Given the description of an element on the screen output the (x, y) to click on. 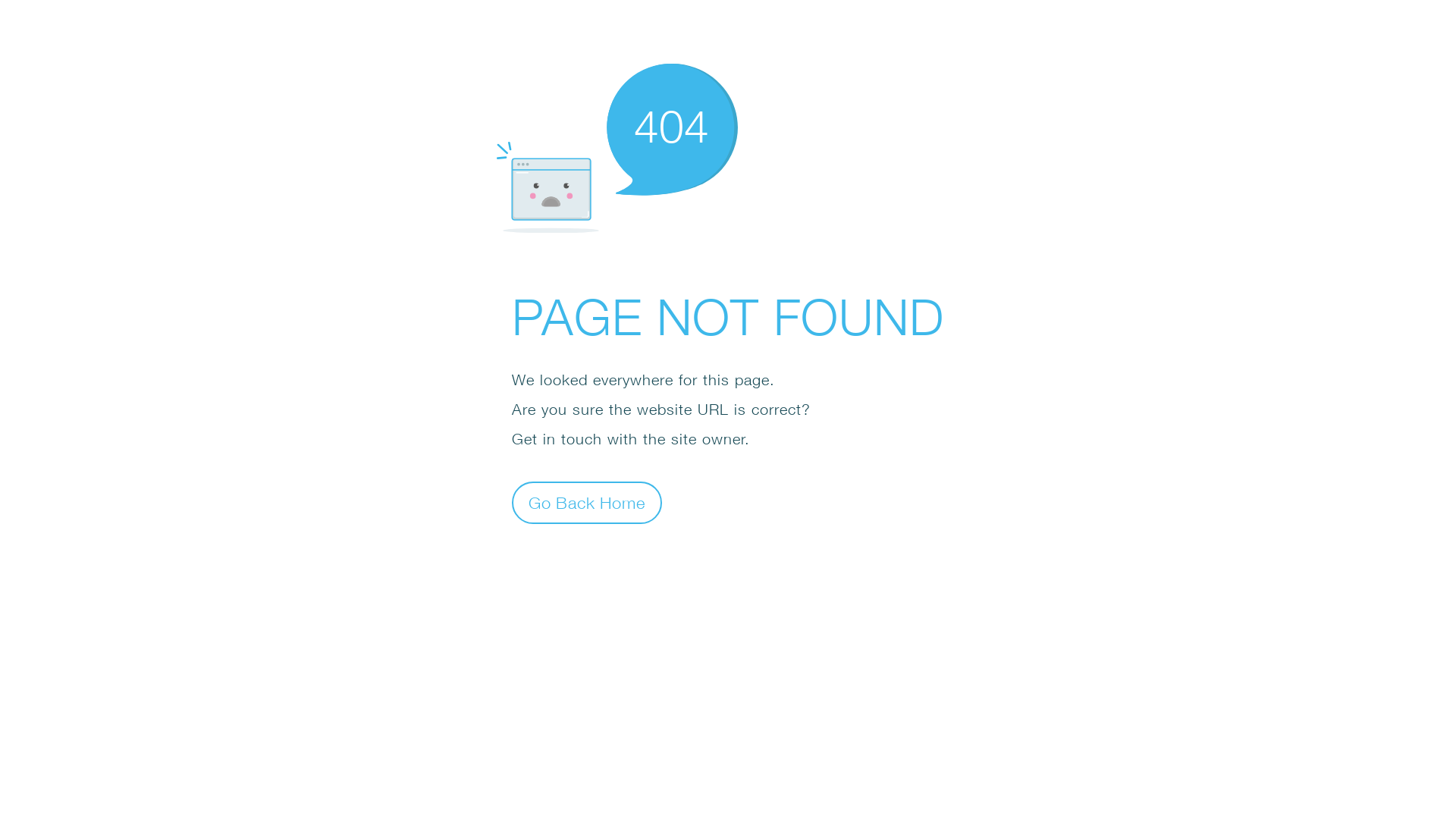
Go Back Home Element type: text (586, 502)
